Given the description of an element on the screen output the (x, y) to click on. 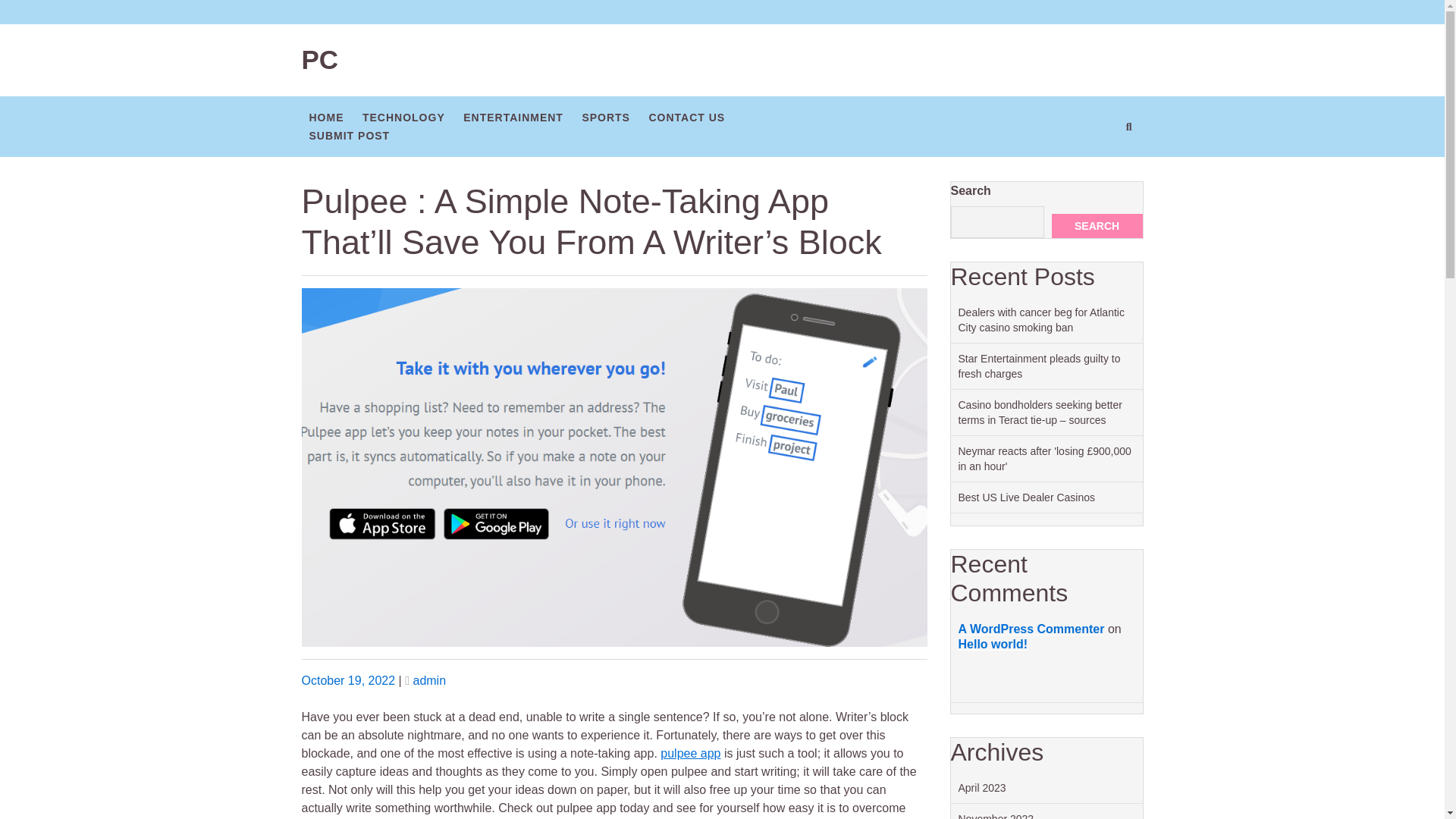
A WordPress Commenter (1031, 628)
pulpee app (690, 753)
April 2023 (982, 787)
HOME (326, 116)
ENTERTAINMENT (512, 116)
CONTACT US (686, 116)
SPORTS (605, 116)
admin (428, 680)
November 2022 (995, 816)
October 19, 2022 (348, 680)
SEARCH (1096, 225)
Star Entertainment pleads guilty to fresh charges (1039, 366)
PC (320, 59)
SUBMIT POST (349, 134)
Hello world! (992, 644)
